Given the description of an element on the screen output the (x, y) to click on. 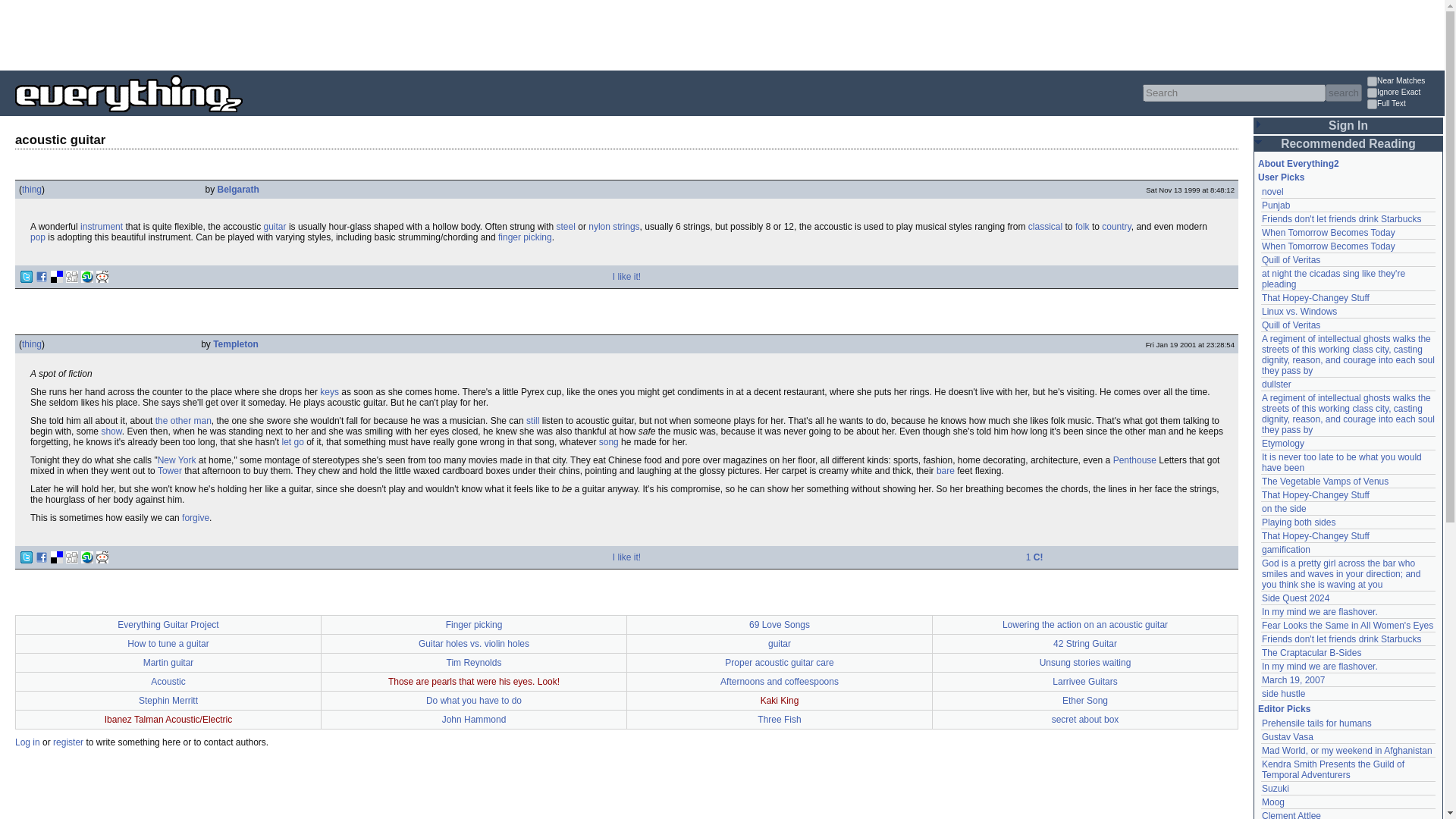
let go (291, 441)
nylon (599, 226)
search (1342, 92)
Belgarath (237, 189)
steel (565, 226)
search (1342, 92)
I like it! (626, 276)
folk (1082, 226)
thing (31, 189)
pop (37, 236)
strings (625, 226)
guitar (274, 226)
still (531, 420)
Search within Everything2 (1342, 92)
New York (176, 460)
